Given the description of an element on the screen output the (x, y) to click on. 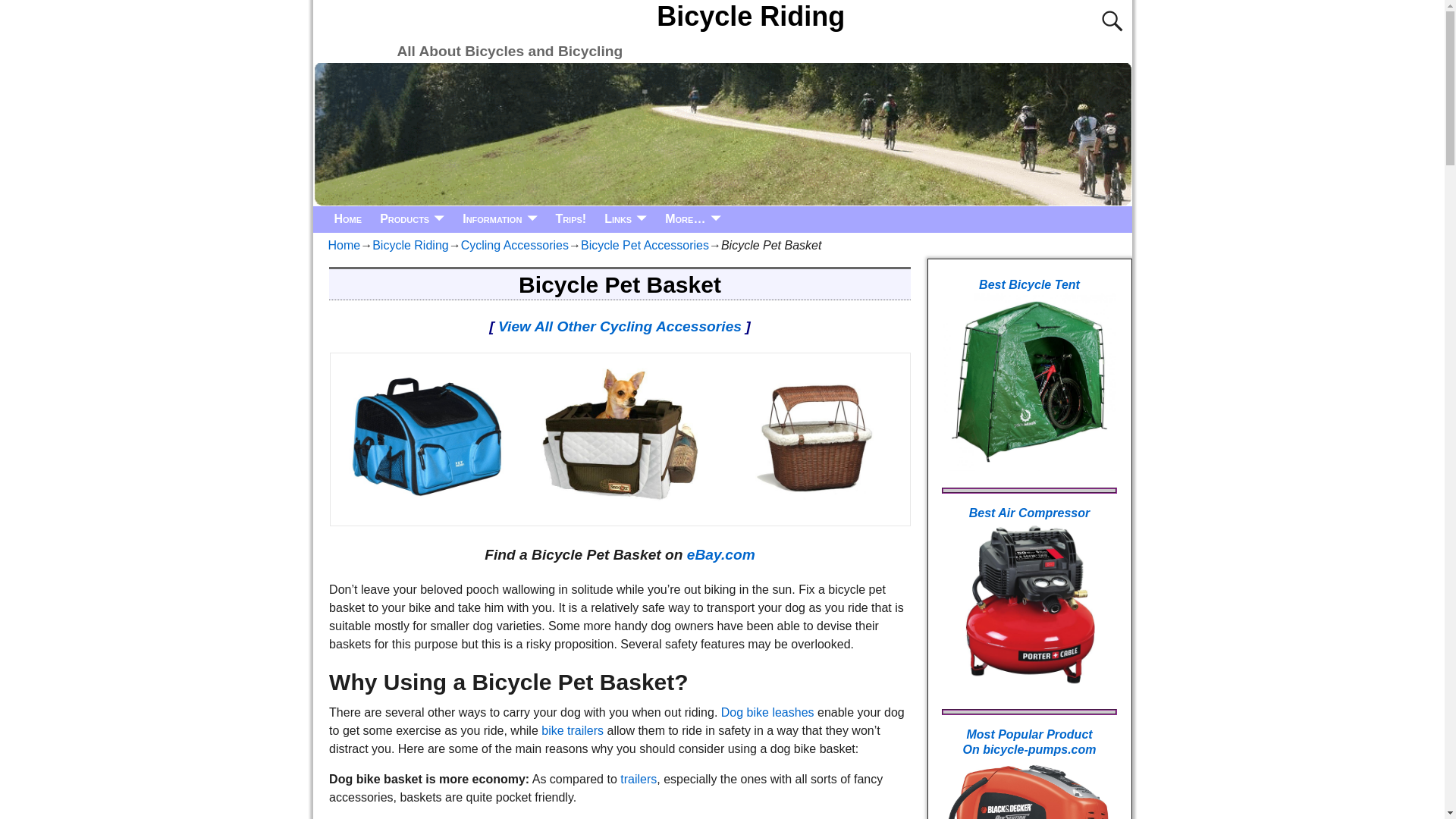
Dog Bike Basket (427, 436)
Links (625, 219)
Dog Bike Basket (813, 436)
Home (347, 219)
Information (499, 219)
Bicycle Riding (750, 15)
Trips! (570, 219)
Bicycle Riding (750, 15)
Dog Bike Basket (619, 436)
Products (411, 219)
